Given the description of an element on the screen output the (x, y) to click on. 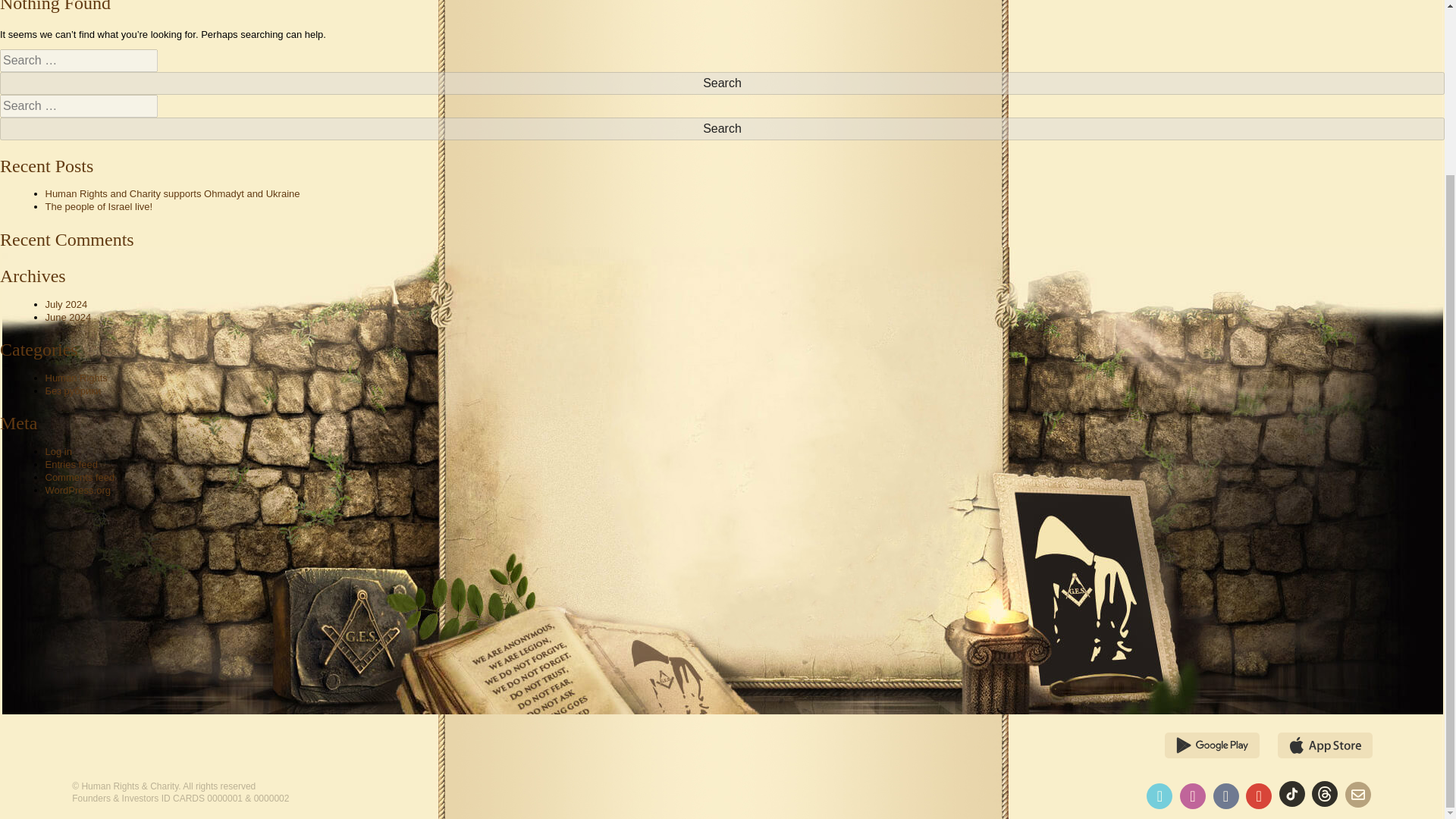
Comments feed (80, 477)
July 2024 (66, 304)
WordPress.org (77, 490)
The people of Israel live! (98, 206)
Human Rights (76, 378)
Log in (58, 451)
June 2024 (68, 317)
Human Rights and Charity supports Ohmadyt and Ukraine (172, 193)
Entries feed (71, 464)
